Given the description of an element on the screen output the (x, y) to click on. 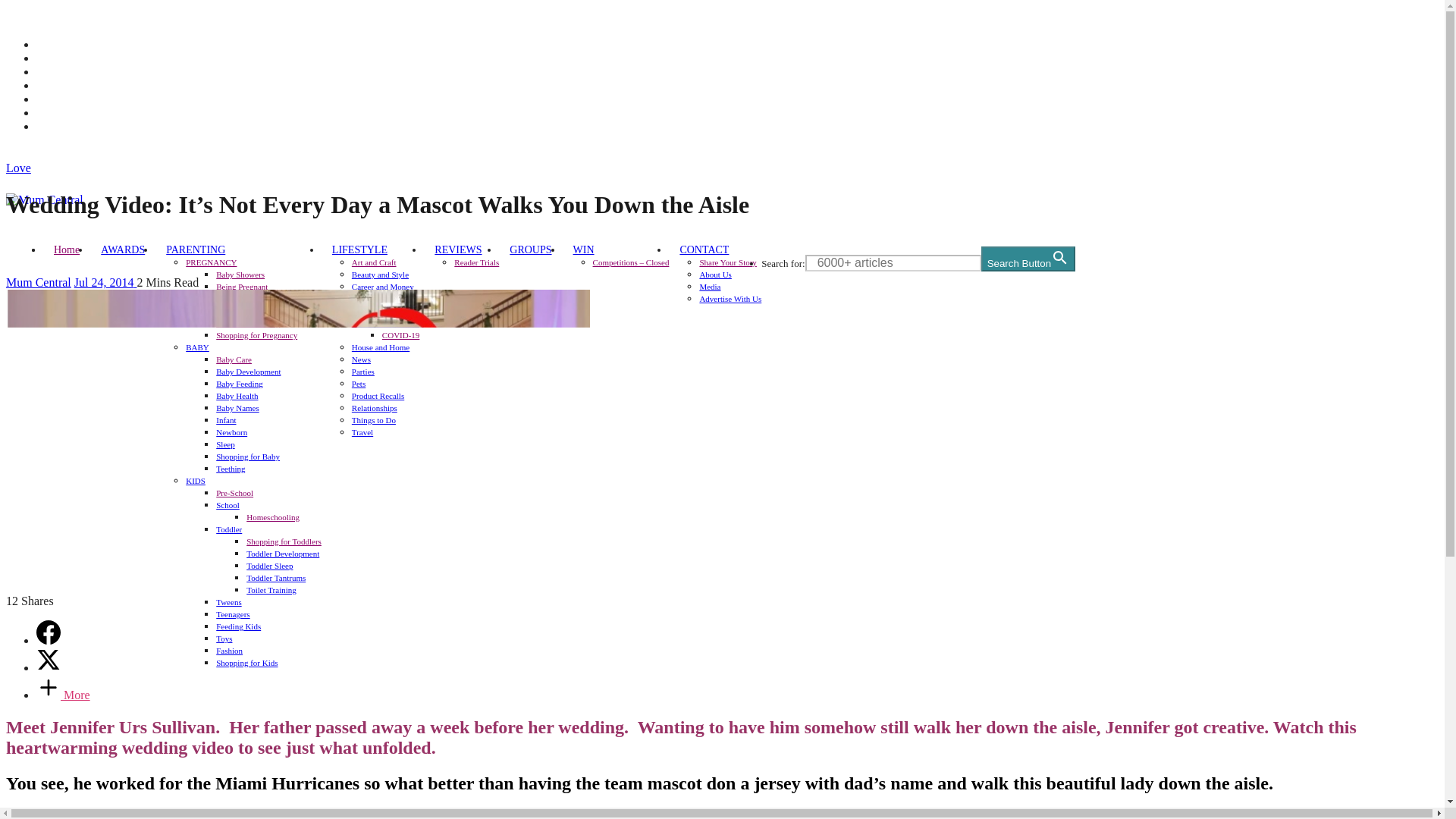
Toddler Development (282, 552)
Mum Central (97, 199)
AWARDS (122, 249)
Being Pregnant (241, 286)
Facebook (59, 43)
School (227, 504)
KIDS (195, 480)
Instagram (60, 71)
LinkedIn (58, 112)
TikTok (53, 125)
